Given the description of an element on the screen output the (x, y) to click on. 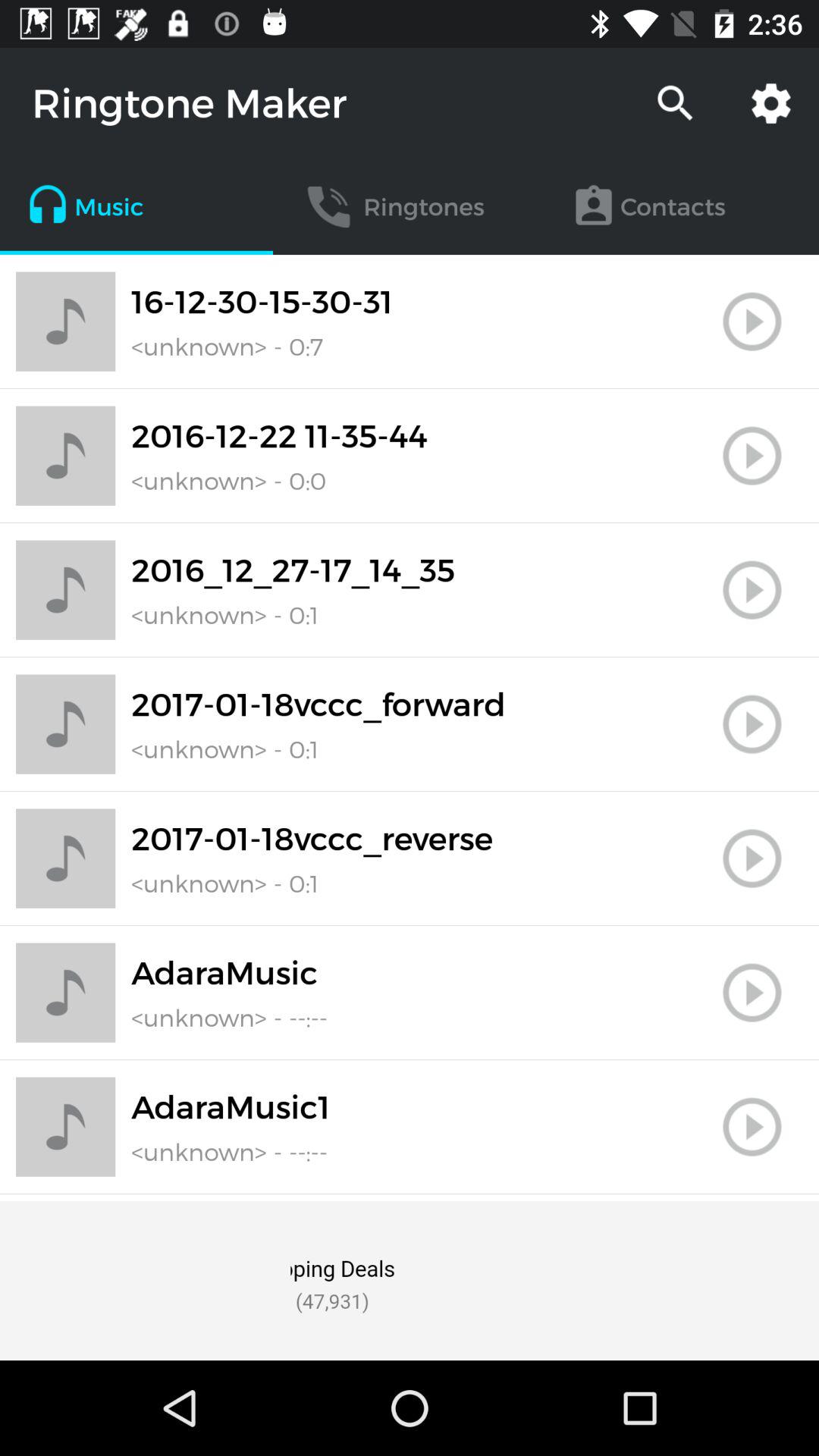
go to play (752, 724)
